Given the description of an element on the screen output the (x, y) to click on. 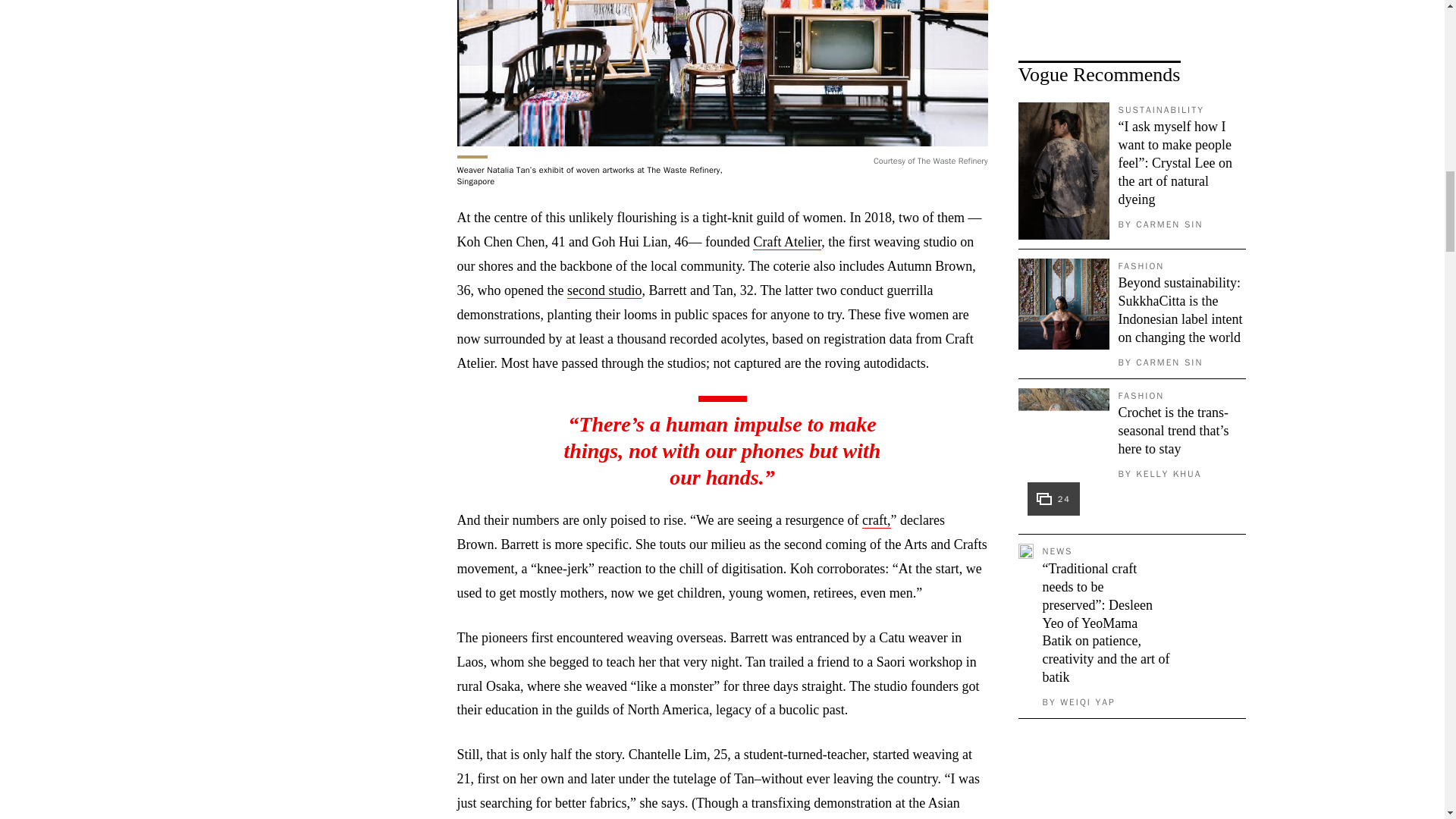
craft, (875, 520)
Craft Atelier (786, 242)
second studio (604, 290)
